Given the description of an element on the screen output the (x, y) to click on. 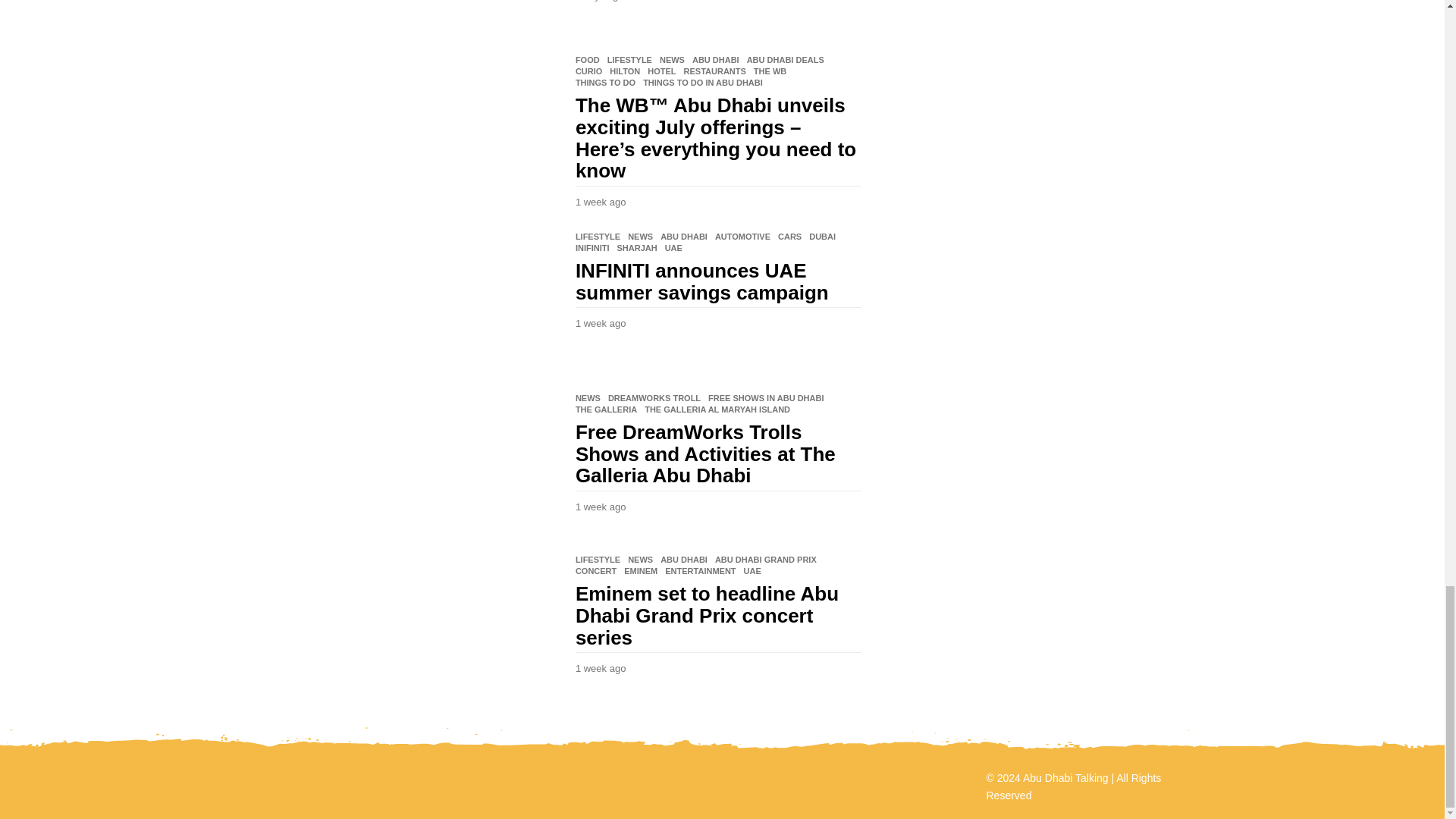
OMODA E5: Unveiling the Next Generation of Electric SUVs (420, 16)
Eminem set to headline Abu Dhabi Grand Prix concert series (420, 624)
INFINITI announces UAE summer savings campaign (420, 301)
